Given the description of an element on the screen output the (x, y) to click on. 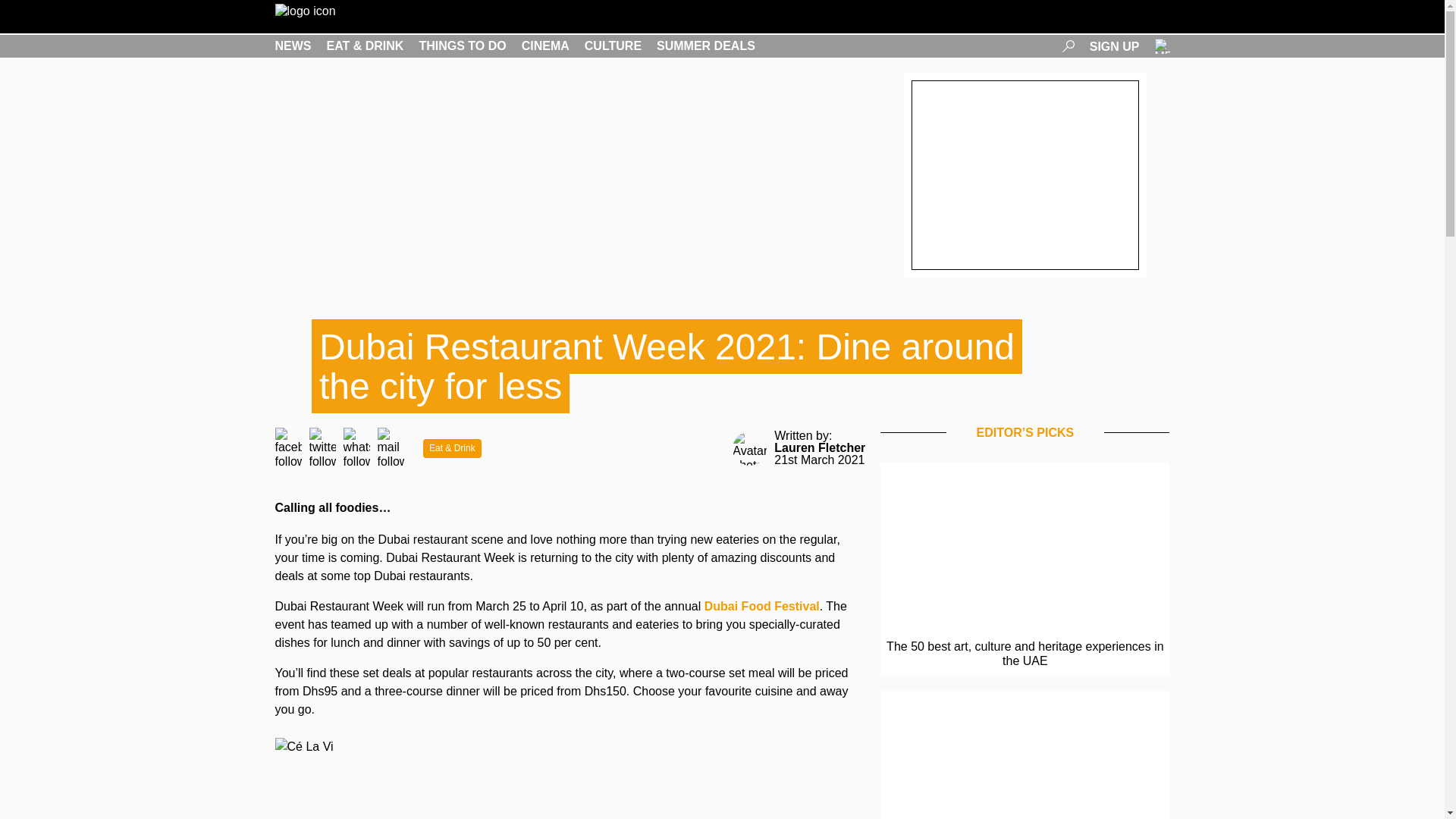
SUMMER DEALS (705, 45)
CULTURE (613, 45)
NEWS (293, 45)
CINEMA (545, 45)
SIGN UP (1114, 45)
THINGS TO DO (462, 45)
